Given the description of an element on the screen output the (x, y) to click on. 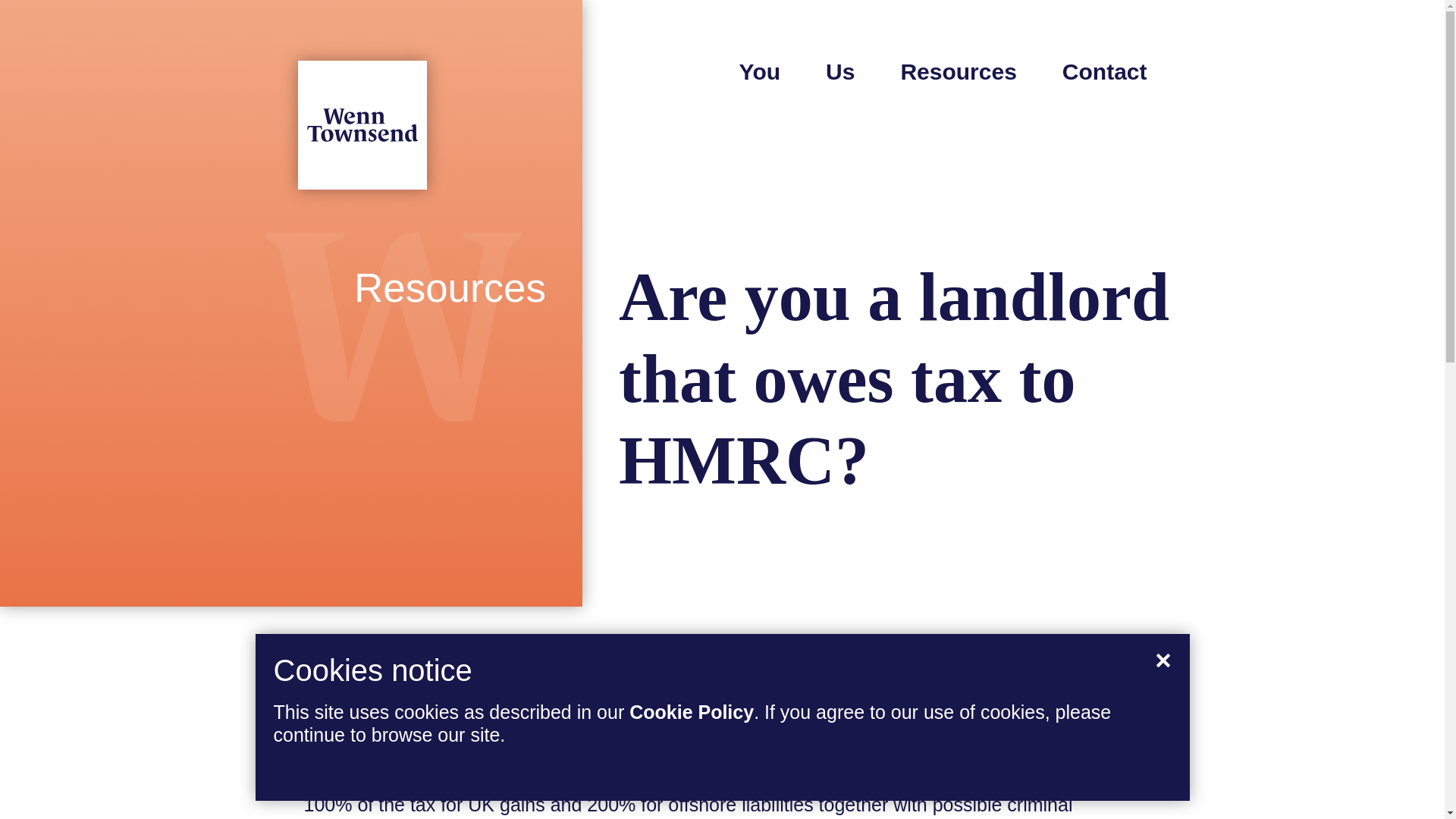
Resources (957, 71)
Contact (1104, 71)
Us (839, 71)
You (759, 71)
Cookie Policy (691, 711)
